Given the description of an element on the screen output the (x, y) to click on. 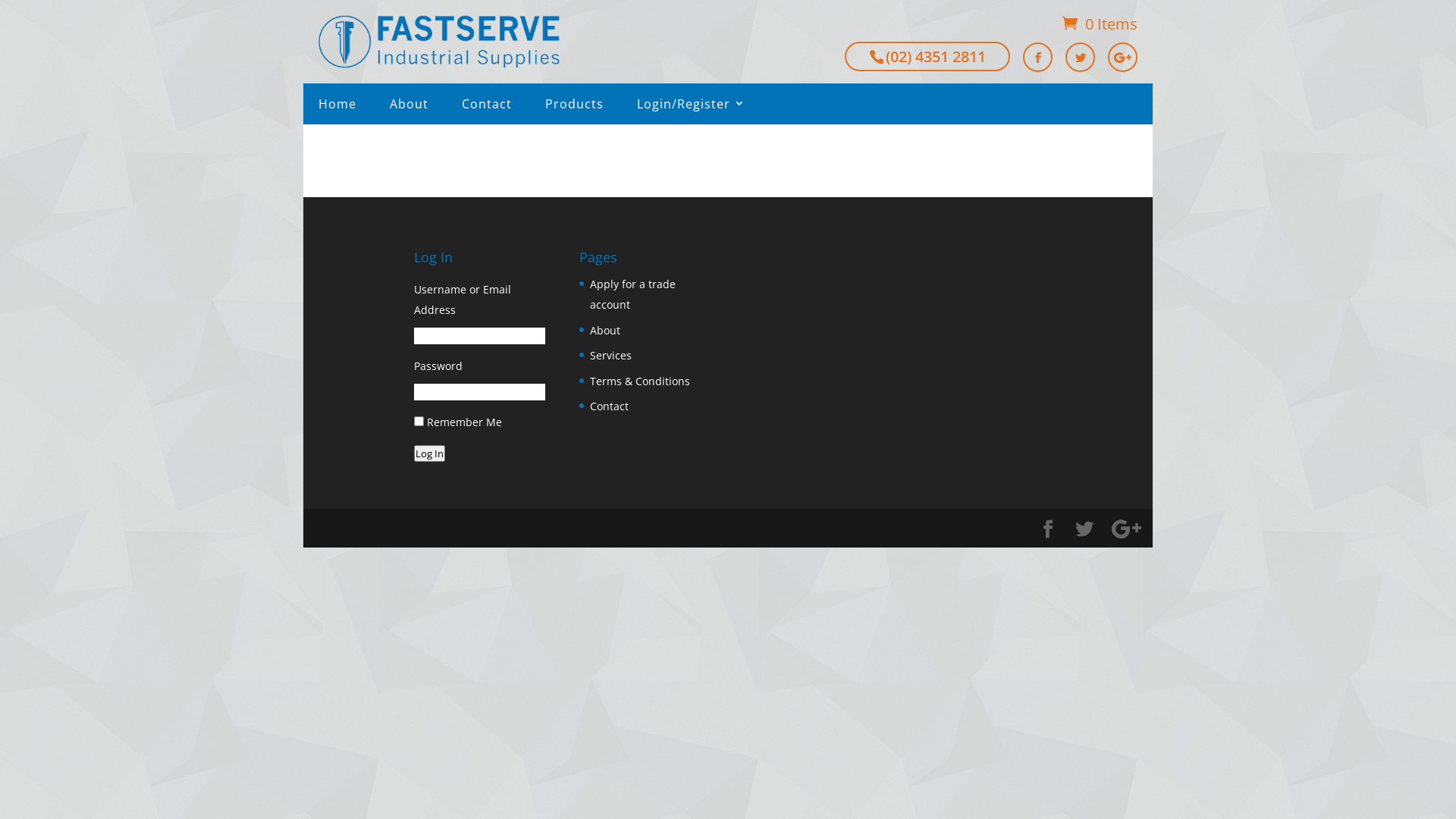
Contact Element type: text (608, 405)
About Element type: text (604, 330)
Terms & Conditions Element type: text (639, 380)
Apply for a trade account Element type: text (632, 293)
0 Items Element type: text (1099, 23)
Contact Element type: text (486, 103)
Services Element type: text (610, 355)
Log In Element type: text (429, 453)
Home Element type: text (337, 103)
About Element type: text (408, 103)
Products Element type: text (574, 103)
Login/Register Element type: text (683, 103)
